Given the description of an element on the screen output the (x, y) to click on. 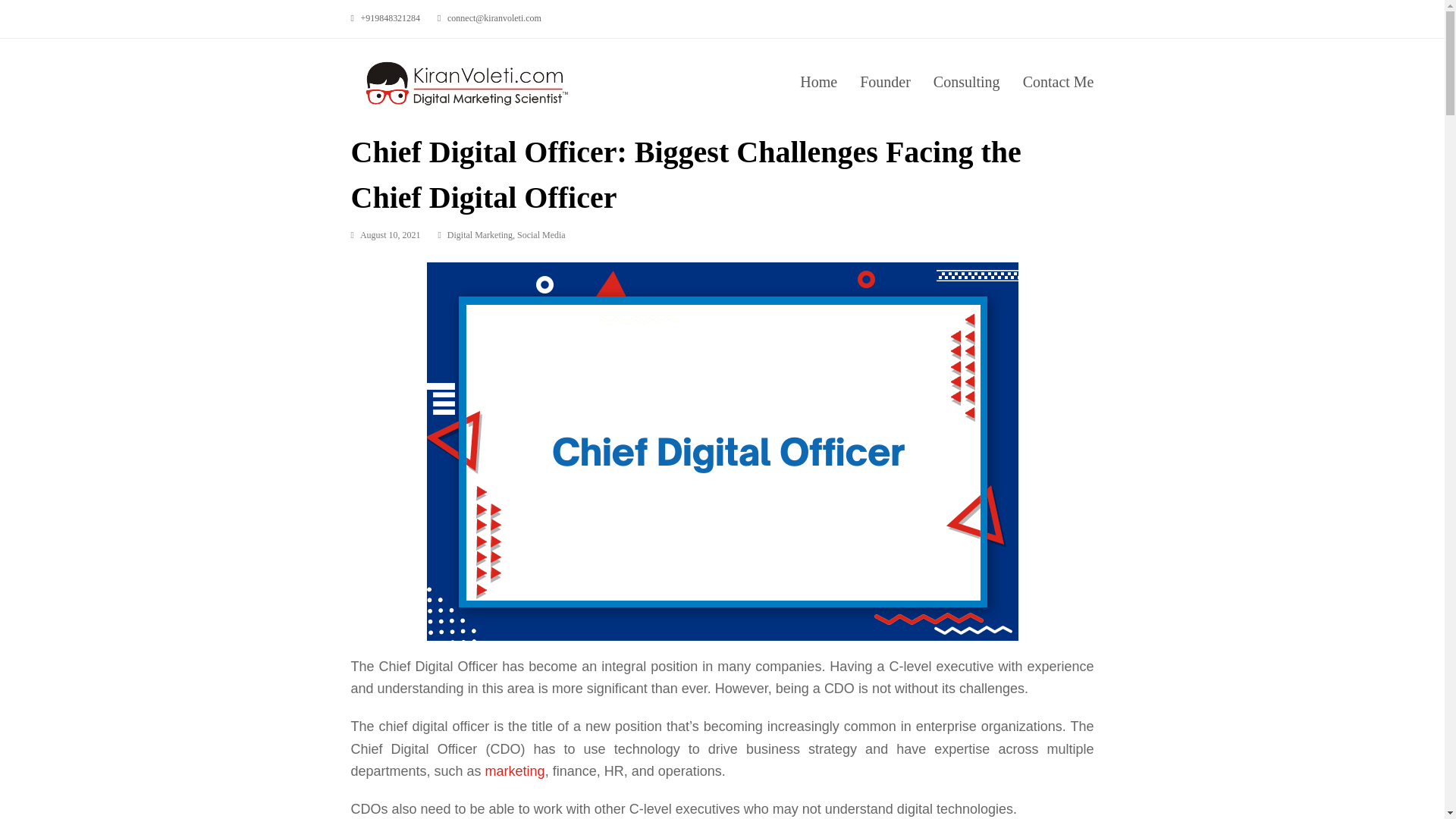
Digital Marketing (479, 235)
Social Media (541, 235)
Digital Marketing (479, 235)
Founder (884, 84)
Consulting (966, 84)
Contact Me (1058, 84)
Home (818, 84)
marketing (514, 770)
Social Media (541, 235)
